Given the description of an element on the screen output the (x, y) to click on. 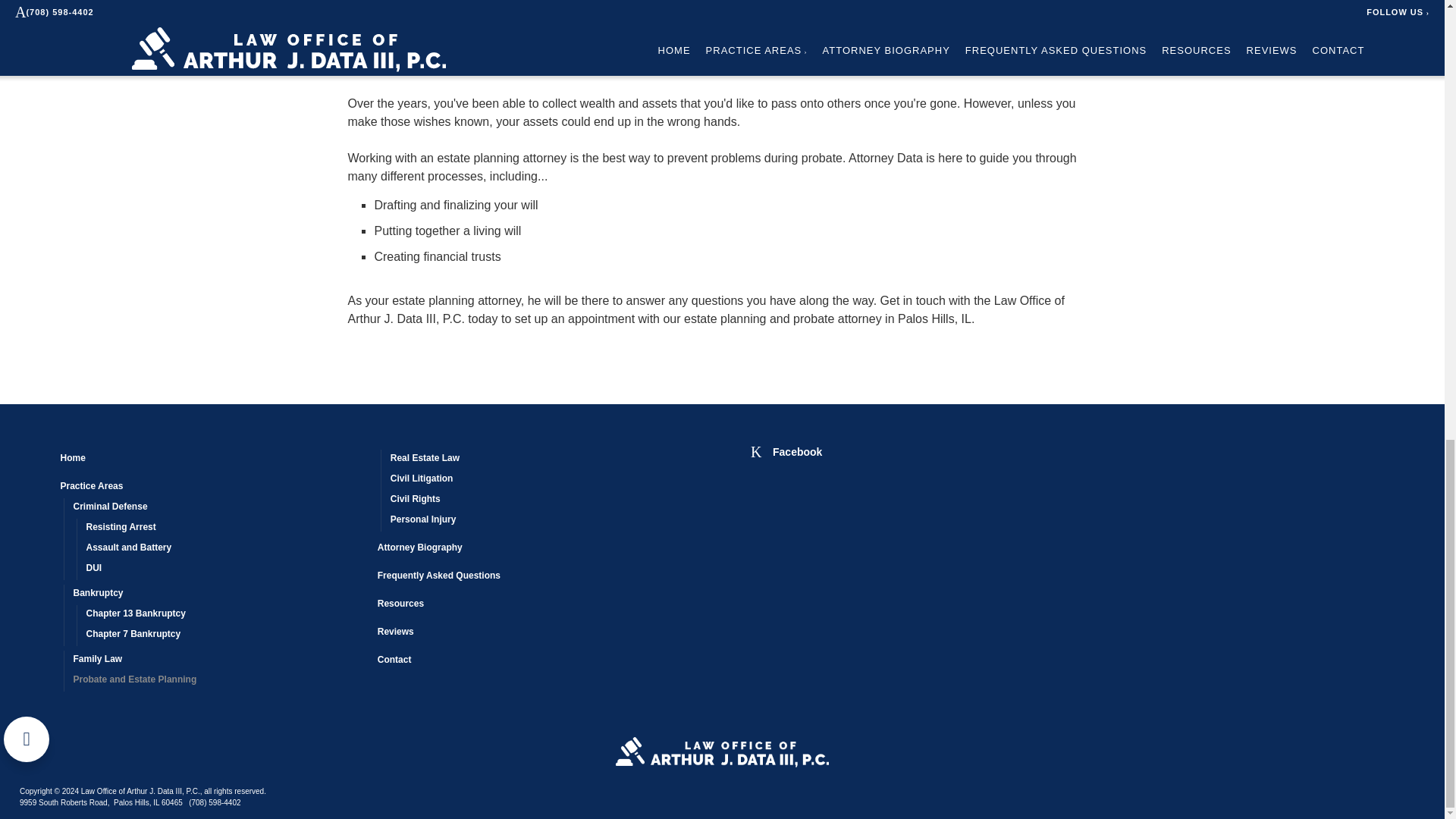
Law Office of Arthur J. Data III, P.C. (722, 752)
Resisting Arrest (225, 528)
Assault and Battery (225, 548)
Criminal Defense (218, 507)
Practice Areas (212, 487)
Bankruptcy (218, 594)
Facebook (786, 450)
DUI (225, 569)
Home (212, 459)
